Given the description of an element on the screen output the (x, y) to click on. 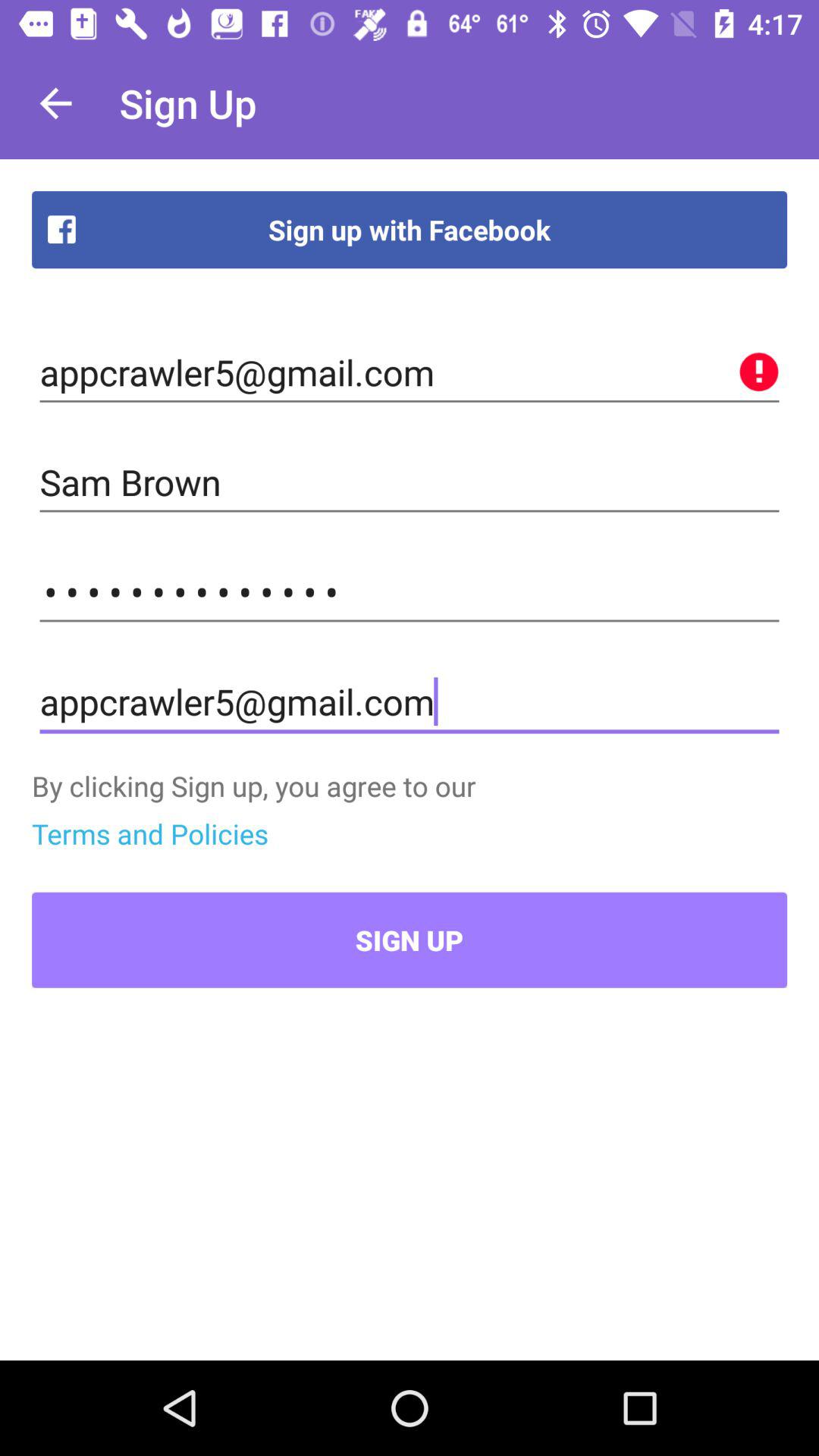
select the terms and policies (149, 833)
